Given the description of an element on the screen output the (x, y) to click on. 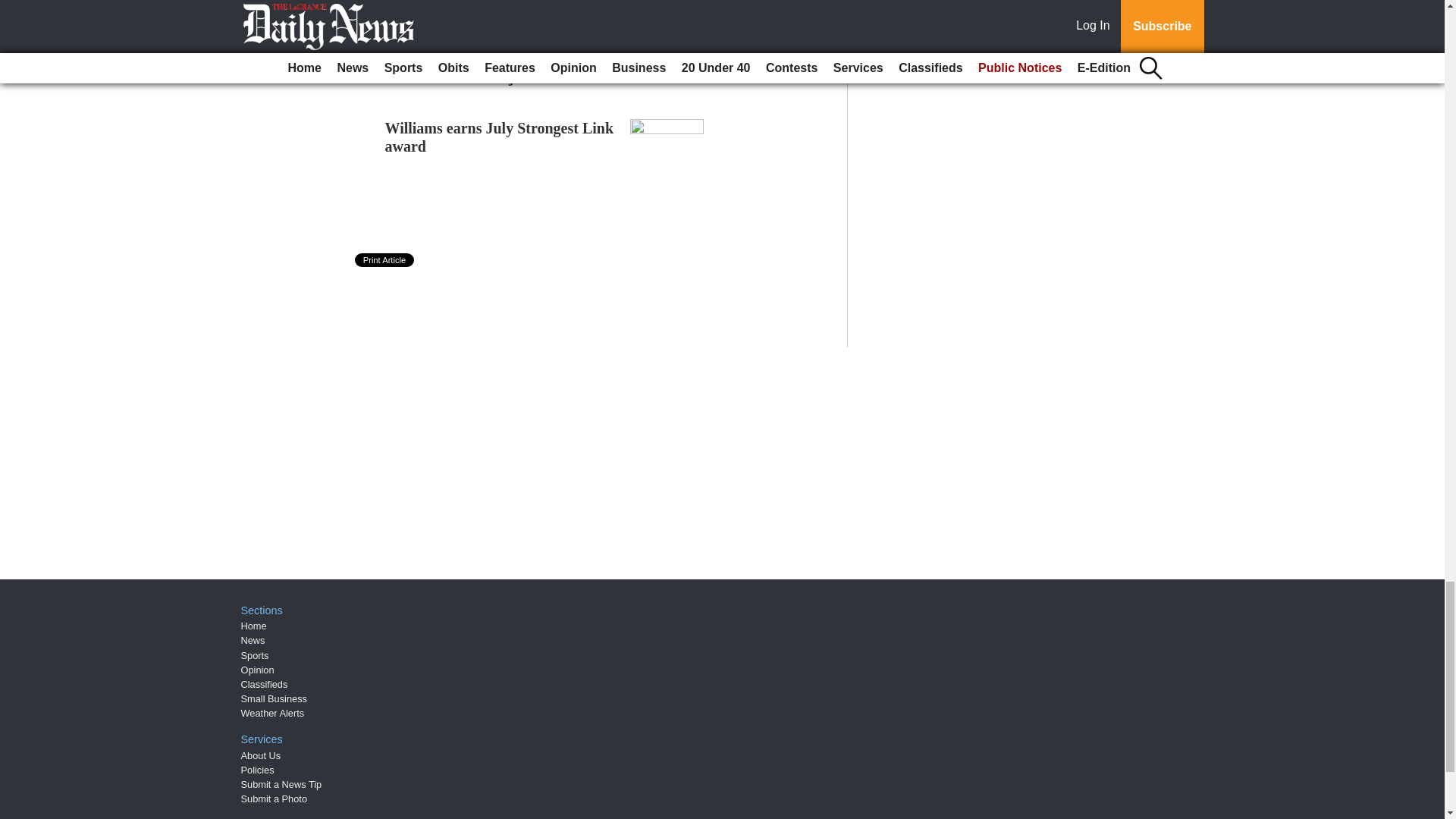
Williams earns July Strongest Link award (499, 136)
Williams earns July Strongest Link award (499, 136)
Print Article (384, 259)
